Given the description of an element on the screen output the (x, y) to click on. 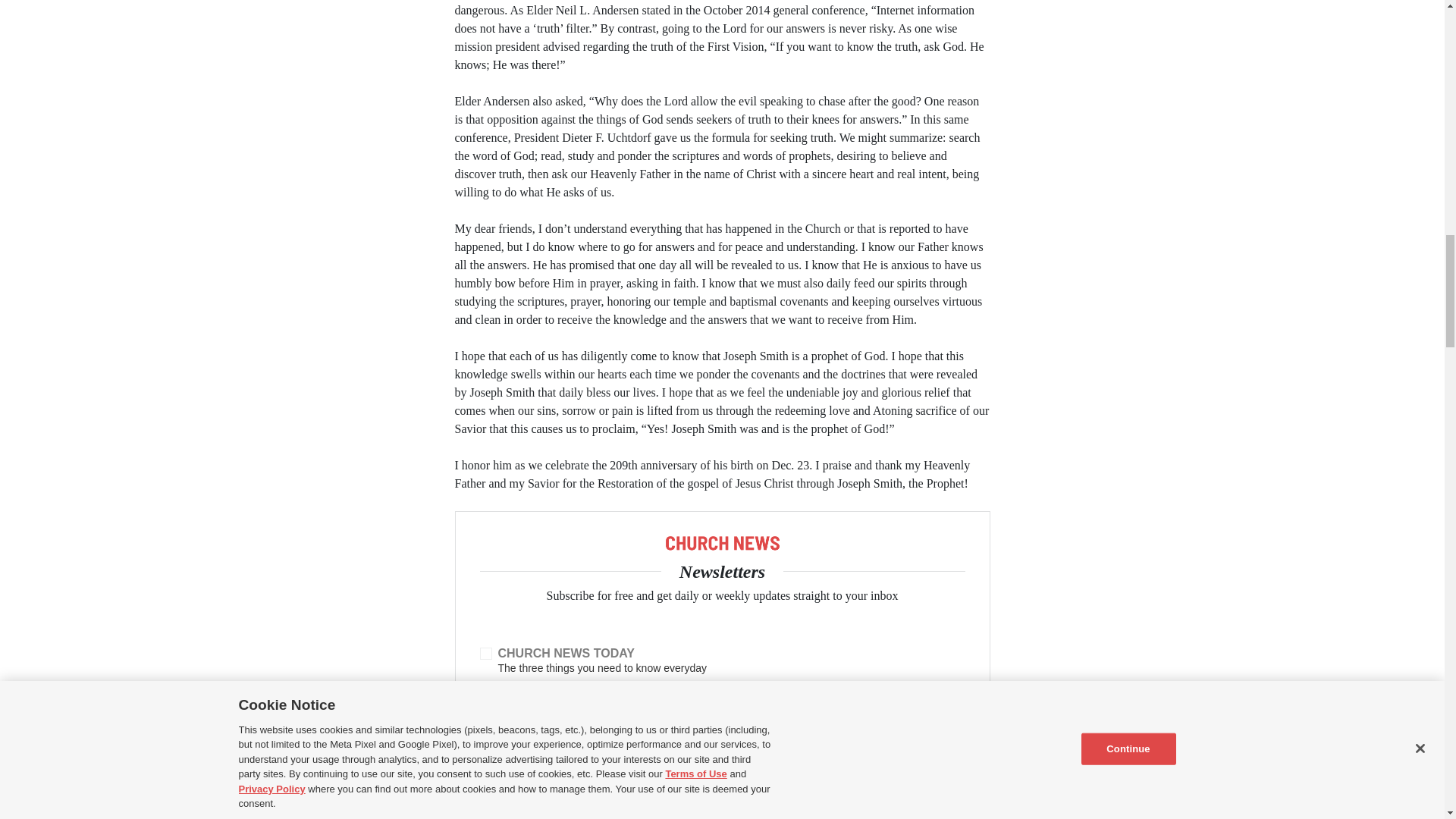
TEMPLES (486, 818)
Church News Today (485, 653)
This Week in Church News (485, 691)
